Given the description of an element on the screen output the (x, y) to click on. 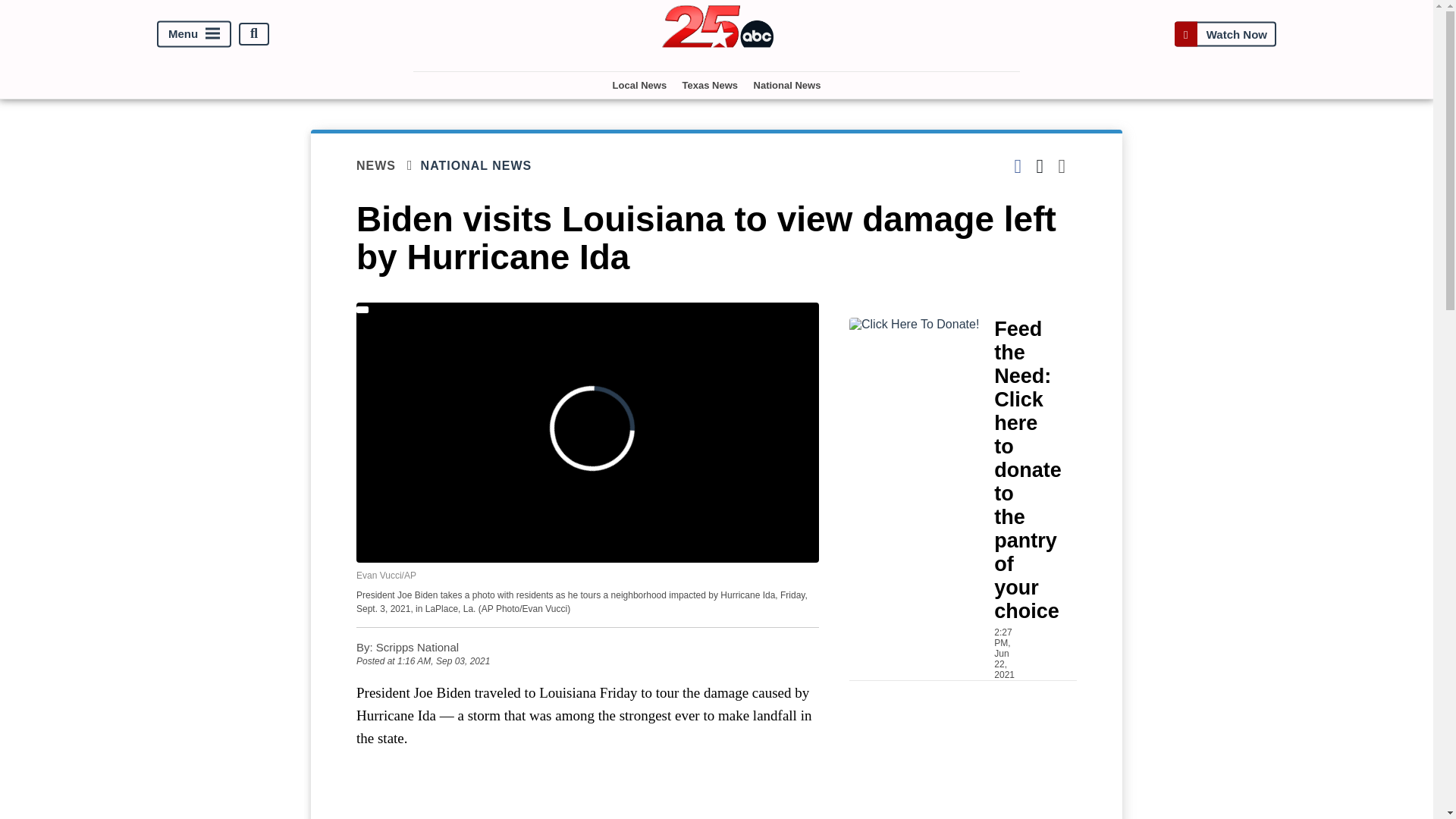
Menu (194, 33)
Watch Now (1224, 33)
